Given the description of an element on the screen output the (x, y) to click on. 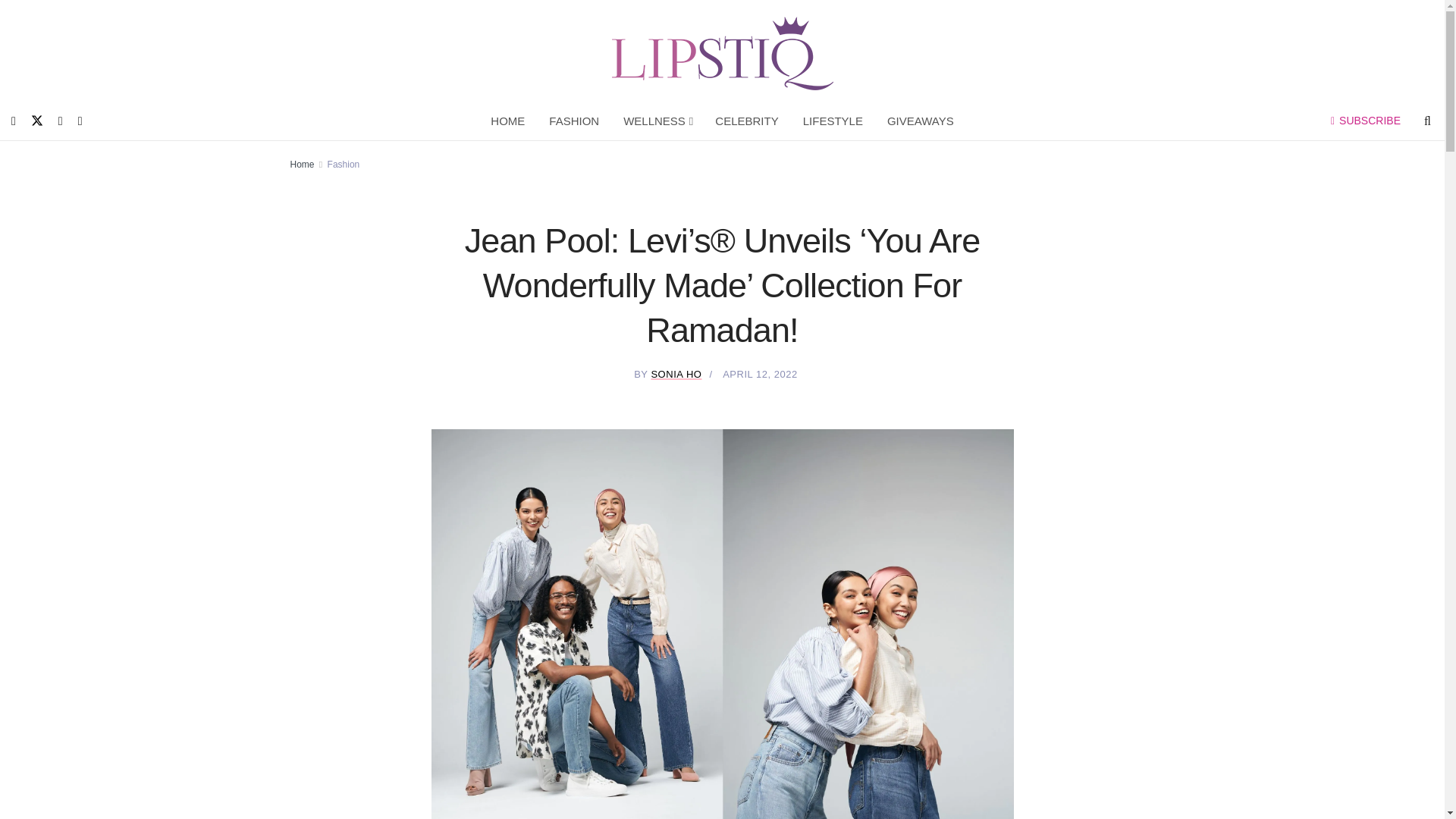
APRIL 12, 2022 (759, 374)
SUBSCRIBE (1365, 120)
WELLNESS (657, 121)
FASHION (574, 121)
LIFESTYLE (832, 121)
Home (301, 163)
SONIA HO (675, 374)
GIVEAWAYS (920, 121)
HOME (508, 121)
Fashion (343, 163)
